Given the description of an element on the screen output the (x, y) to click on. 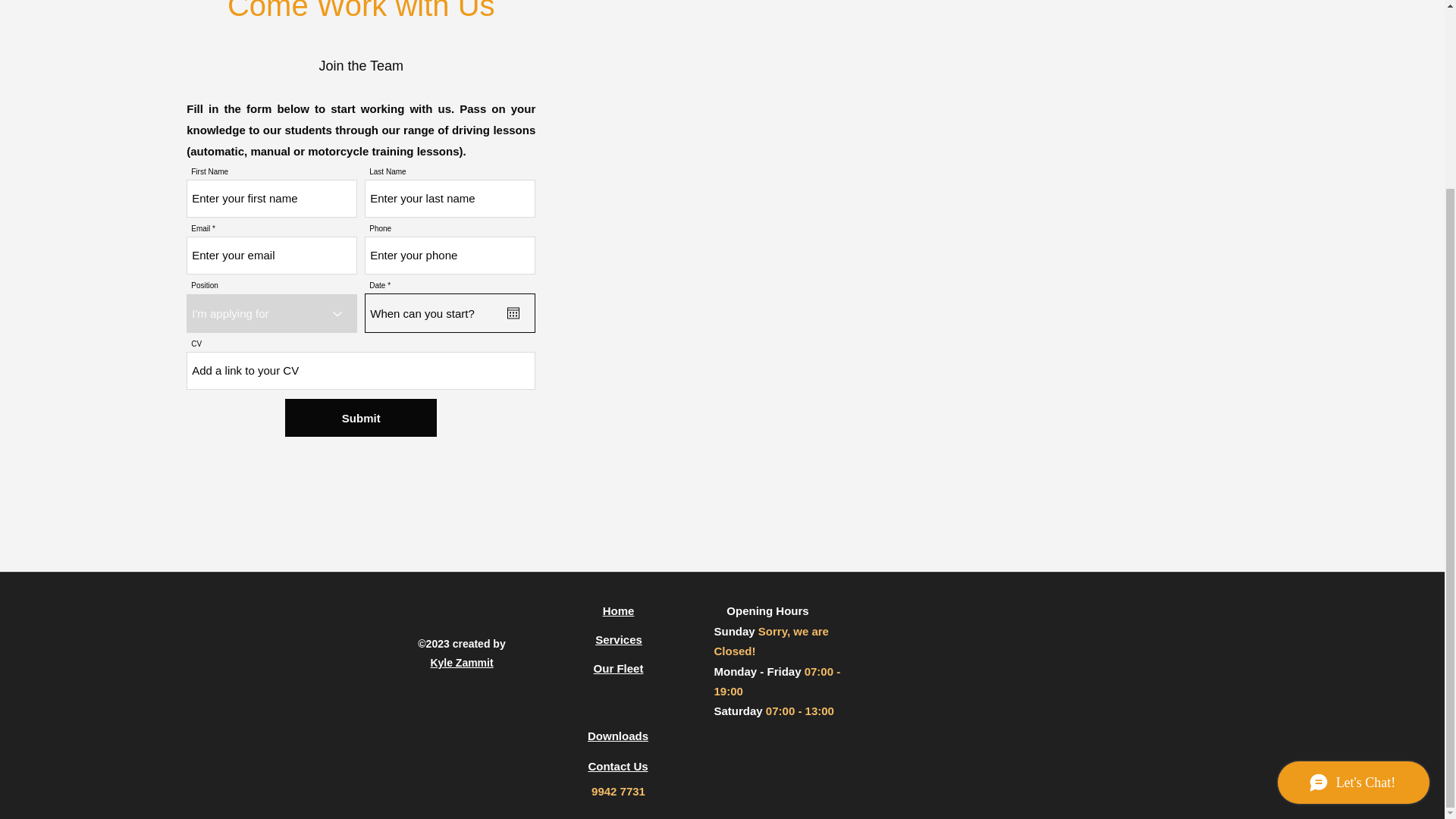
Home (618, 610)
Our Fleet (618, 667)
Contact Us (617, 765)
Downloads (617, 735)
Services (618, 639)
Submit (360, 417)
Kyle Zammit (461, 662)
